Given the description of an element on the screen output the (x, y) to click on. 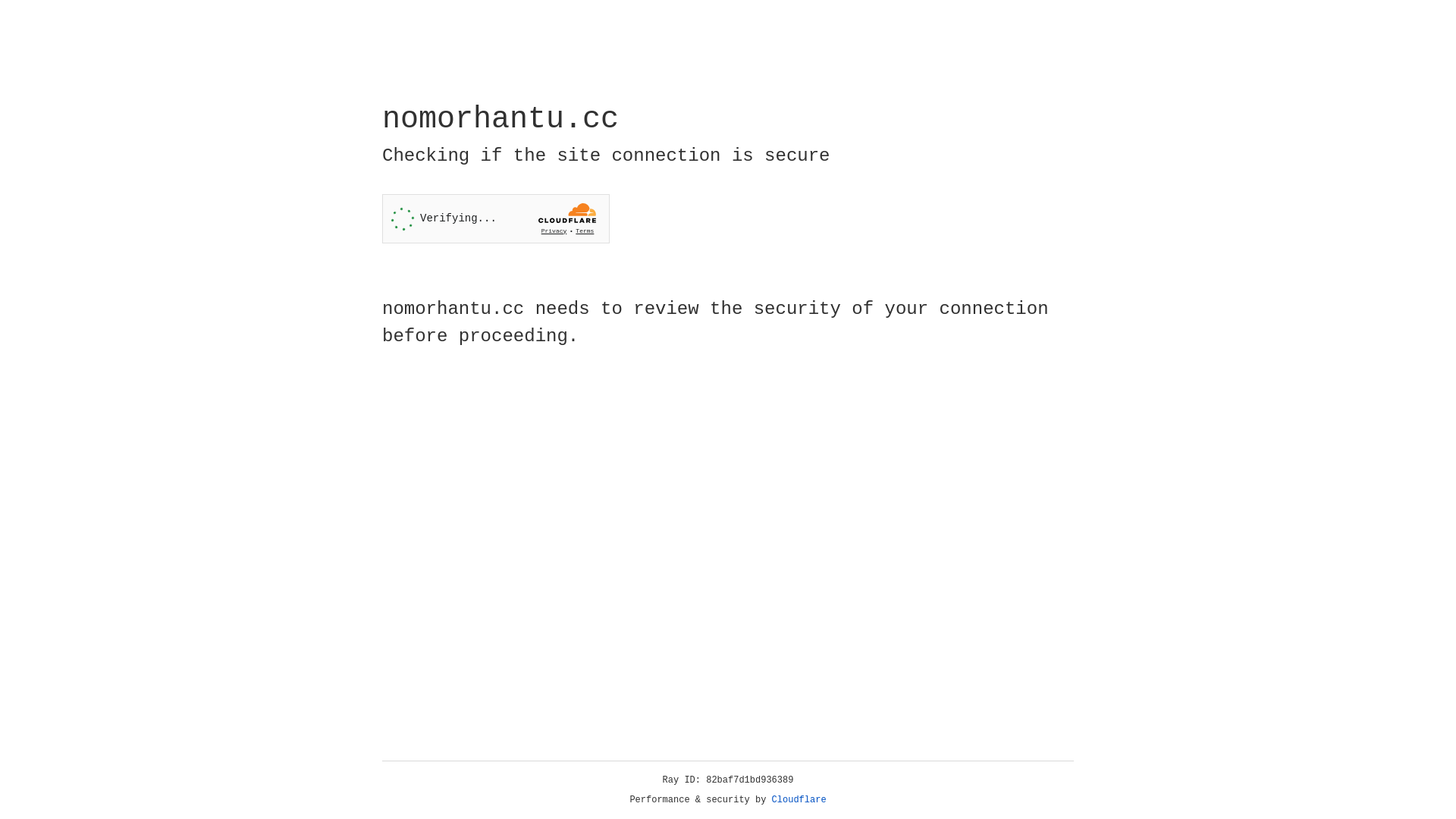
Cloudflare Element type: text (798, 799)
Widget containing a Cloudflare security challenge Element type: hover (495, 218)
